Given the description of an element on the screen output the (x, y) to click on. 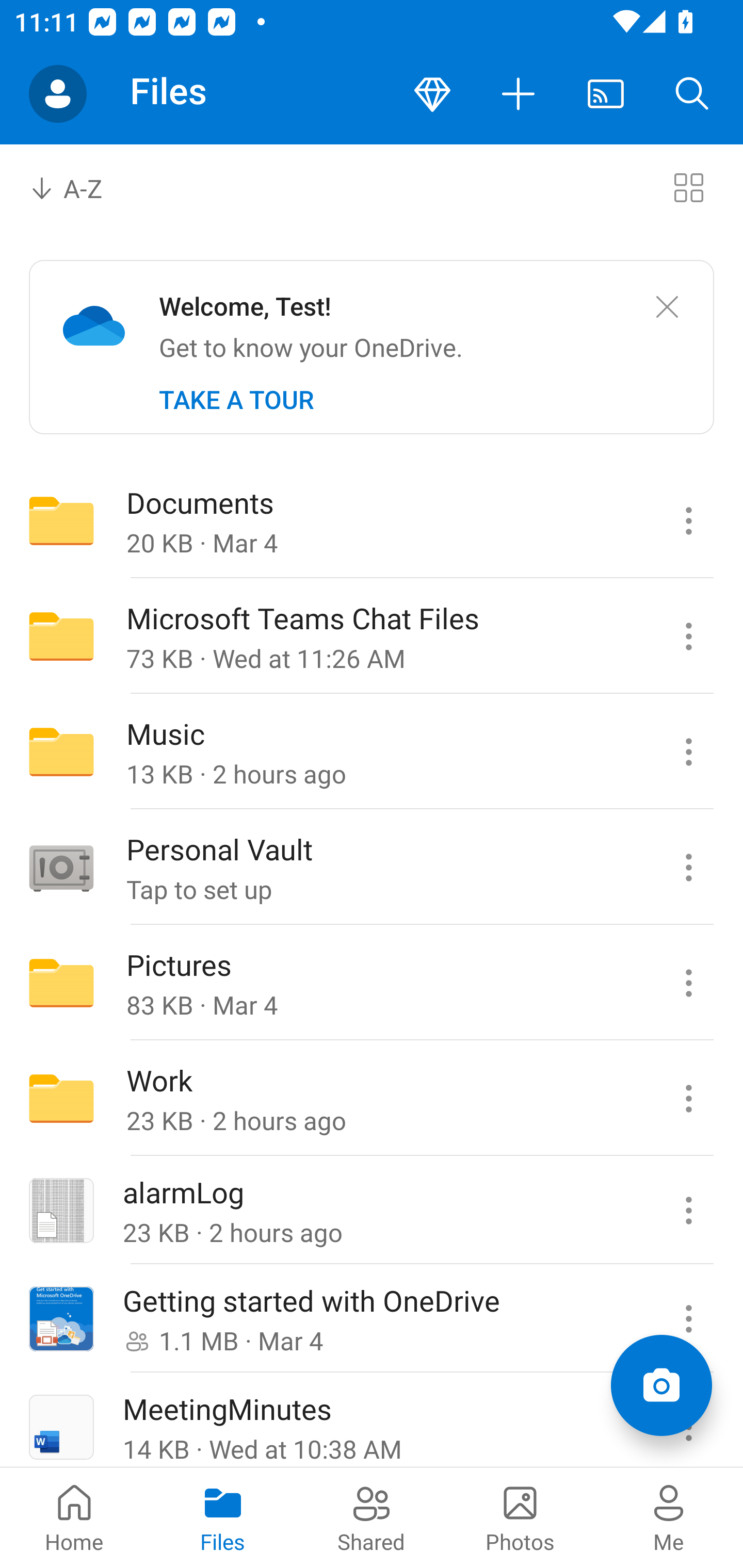
Account switcher (57, 93)
Cast. Disconnected (605, 93)
Premium button (432, 93)
More actions button (518, 93)
Search button (692, 93)
A-Z Sort by combo box, sort by name, A to Z (80, 187)
Switch to tiles view (688, 187)
Close (667, 307)
TAKE A TOUR (236, 399)
Folder Documents 20 KB · Mar 4 Documents commands (371, 520)
Documents commands (688, 520)
Microsoft Teams Chat Files commands (688, 636)
Folder Music 13 KB · 2 hours ago Music commands (371, 751)
Music commands (688, 751)
Personal Vault commands (688, 867)
Folder Pictures 83 KB · Mar 4 Pictures commands (371, 983)
Pictures commands (688, 983)
Folder Work 23 KB · 2 hours ago Work commands (371, 1099)
Work commands (688, 1099)
alarmLog commands (688, 1211)
Getting started with OneDrive commands (688, 1319)
Add items Scan (660, 1385)
Home pivot Home (74, 1517)
Shared pivot Shared (371, 1517)
Photos pivot Photos (519, 1517)
Me pivot Me (668, 1517)
